Given the description of an element on the screen output the (x, y) to click on. 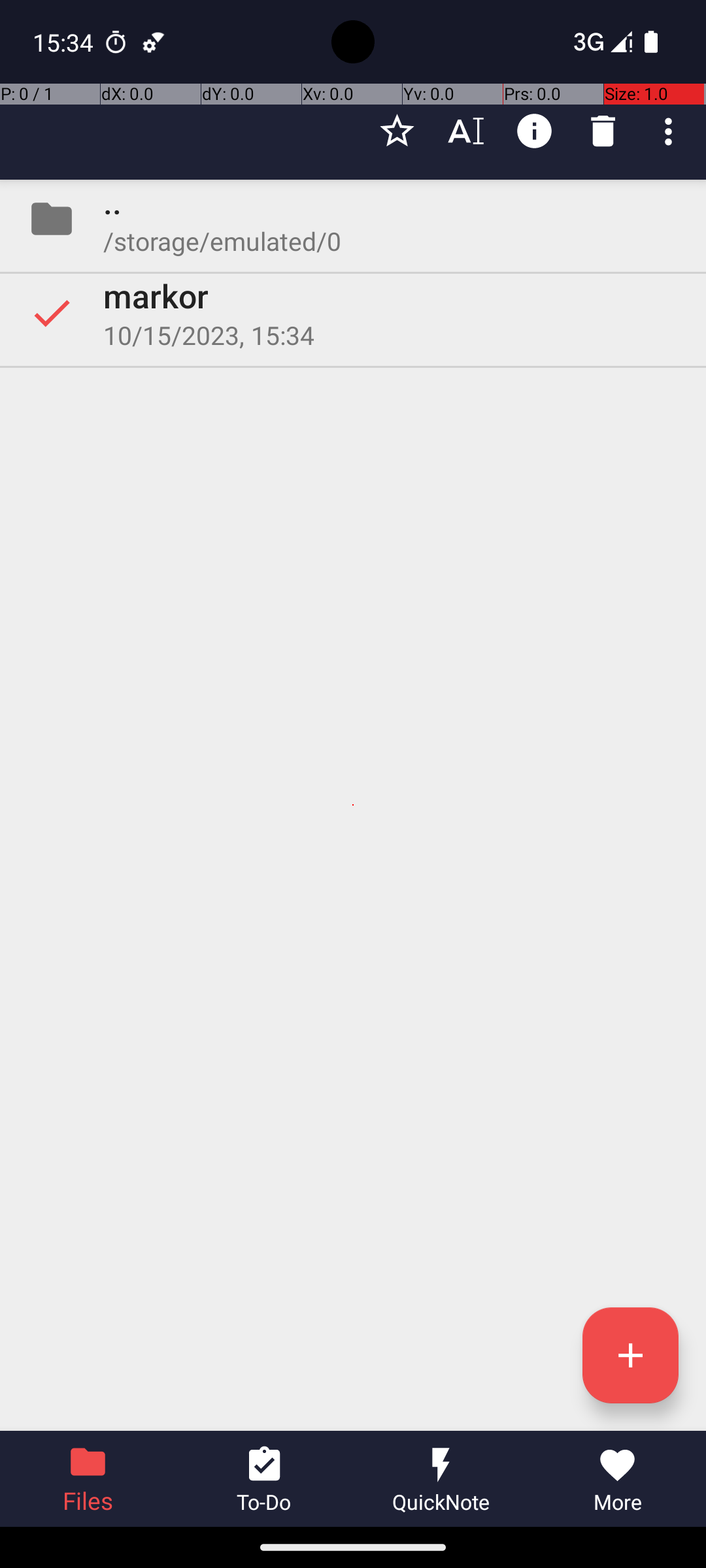
Favourite Element type: android.widget.TextView (396, 131)
Selected markor  Element type: android.widget.LinearLayout (353, 312)
